Given the description of an element on the screen output the (x, y) to click on. 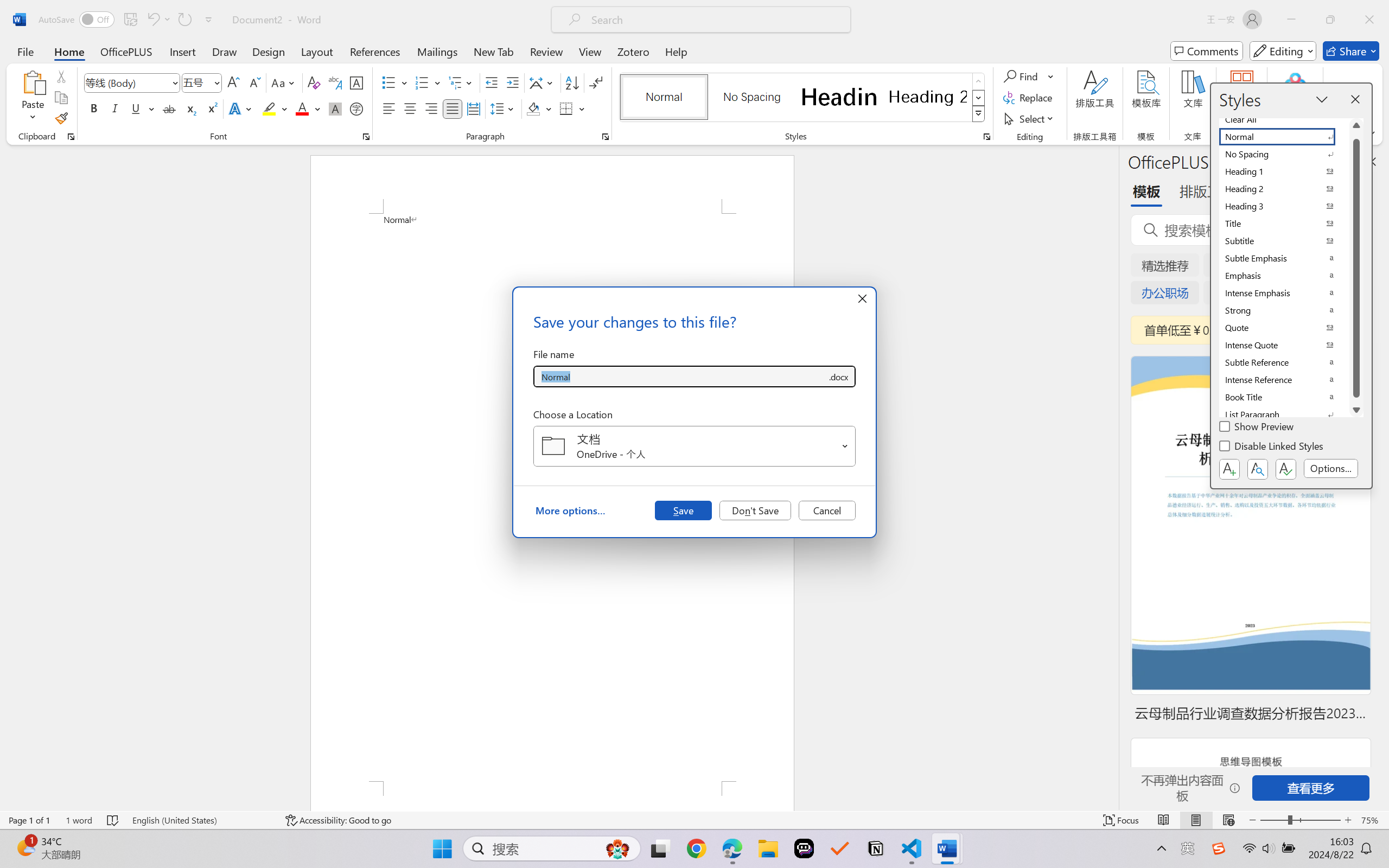
AutomationID: DynamicSearchBoxGleamImage (617, 848)
Microsoft search (715, 19)
Font Color Red (302, 108)
Read Mode (1163, 819)
Design (268, 51)
Undo Apply Quick Style (152, 19)
Bold (94, 108)
Center (409, 108)
Shading RGB(0, 0, 0) (533, 108)
Align Left (388, 108)
Subscript (190, 108)
Change Case (284, 82)
Save (682, 509)
